Given the description of an element on the screen output the (x, y) to click on. 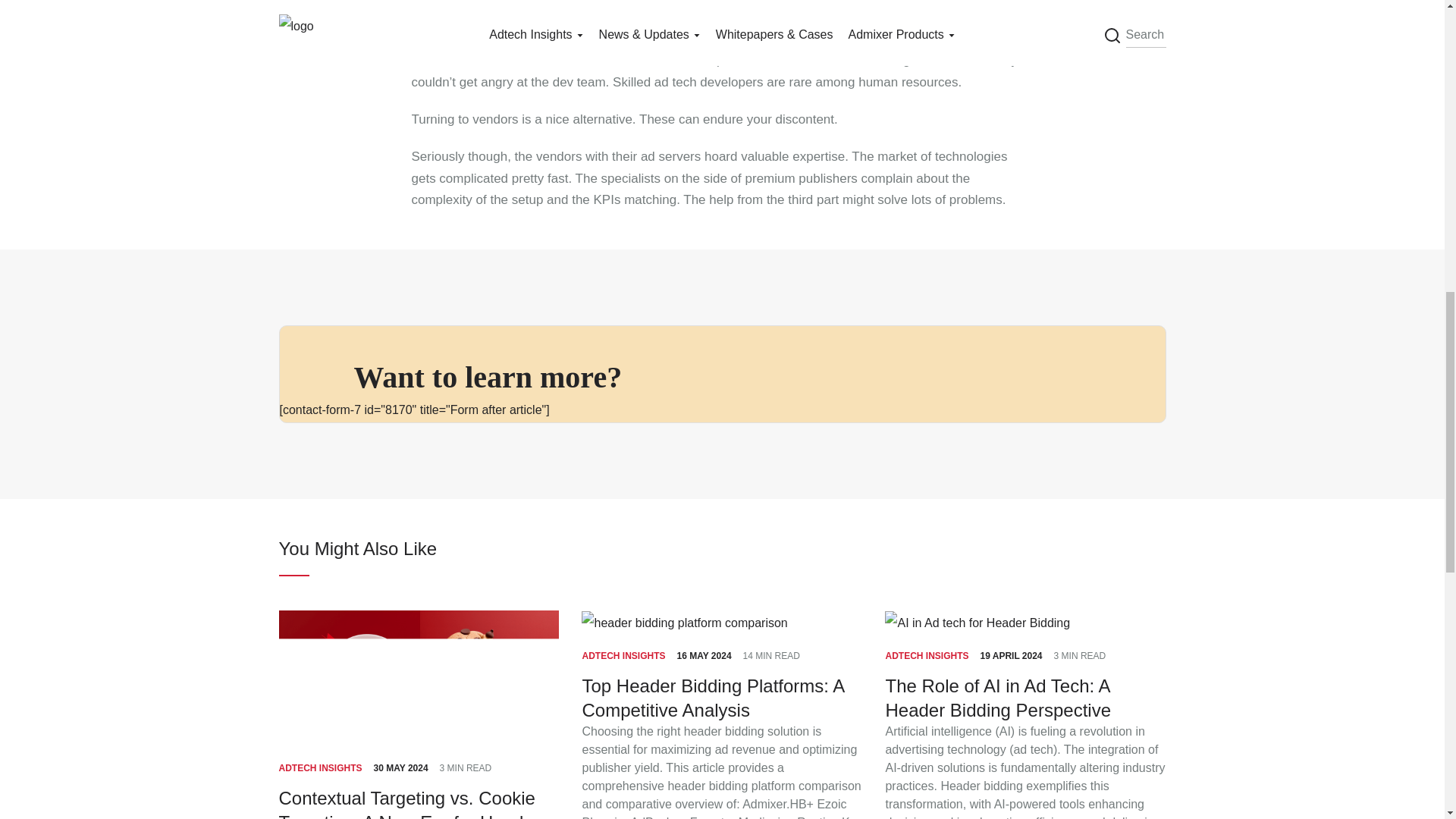
ADTECH INSIGHTS (622, 656)
Top Header Bidding Platforms: A Competitive Analysis (720, 698)
The Role of AI in Ad Tech: A Header Bidding Perspective (1025, 698)
ADTECH INSIGHTS (320, 768)
ADTECH INSIGHTS (926, 656)
